Given the description of an element on the screen output the (x, y) to click on. 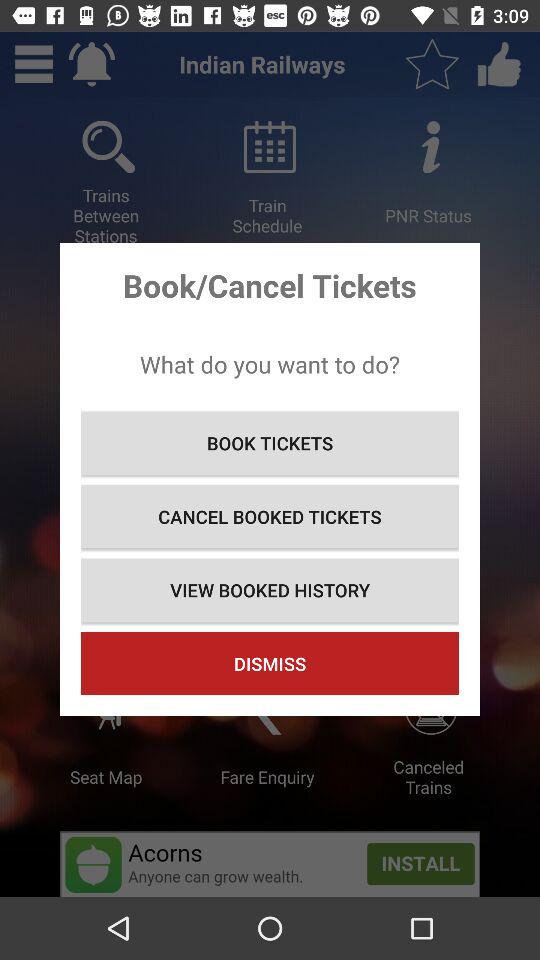
turn on dismiss item (270, 663)
